Given the description of an element on the screen output the (x, y) to click on. 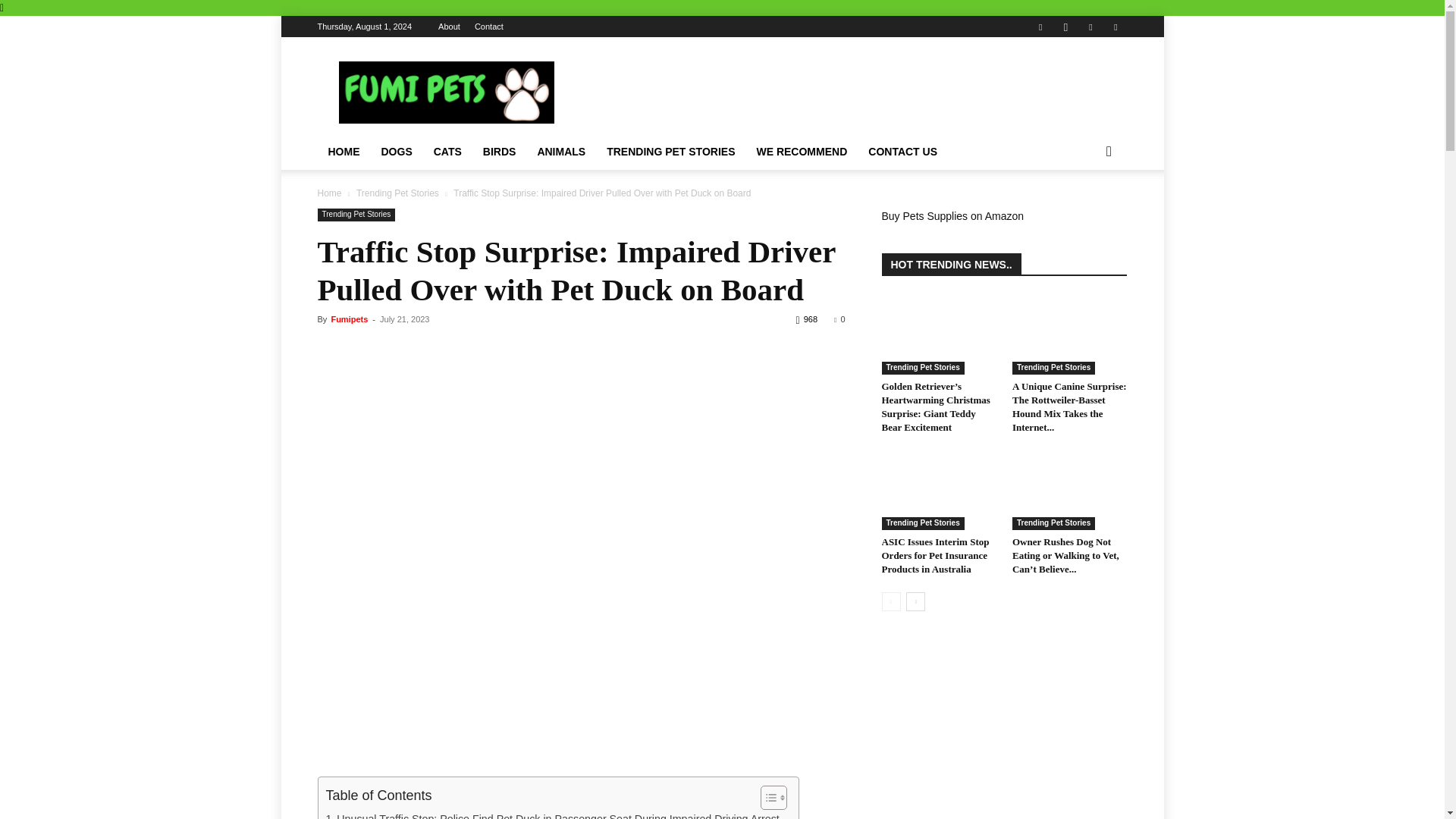
Pinterest (1090, 25)
ANIMALS (560, 151)
BIRDS (499, 151)
Contact (488, 26)
TRENDING PET STORIES (670, 151)
About (449, 26)
View all posts in Trending Pet Stories (397, 193)
HOME (343, 151)
Facebook (1040, 25)
DOGS (395, 151)
CATS (447, 151)
Instagram (1065, 25)
Twitter (1114, 25)
